Given the description of an element on the screen output the (x, y) to click on. 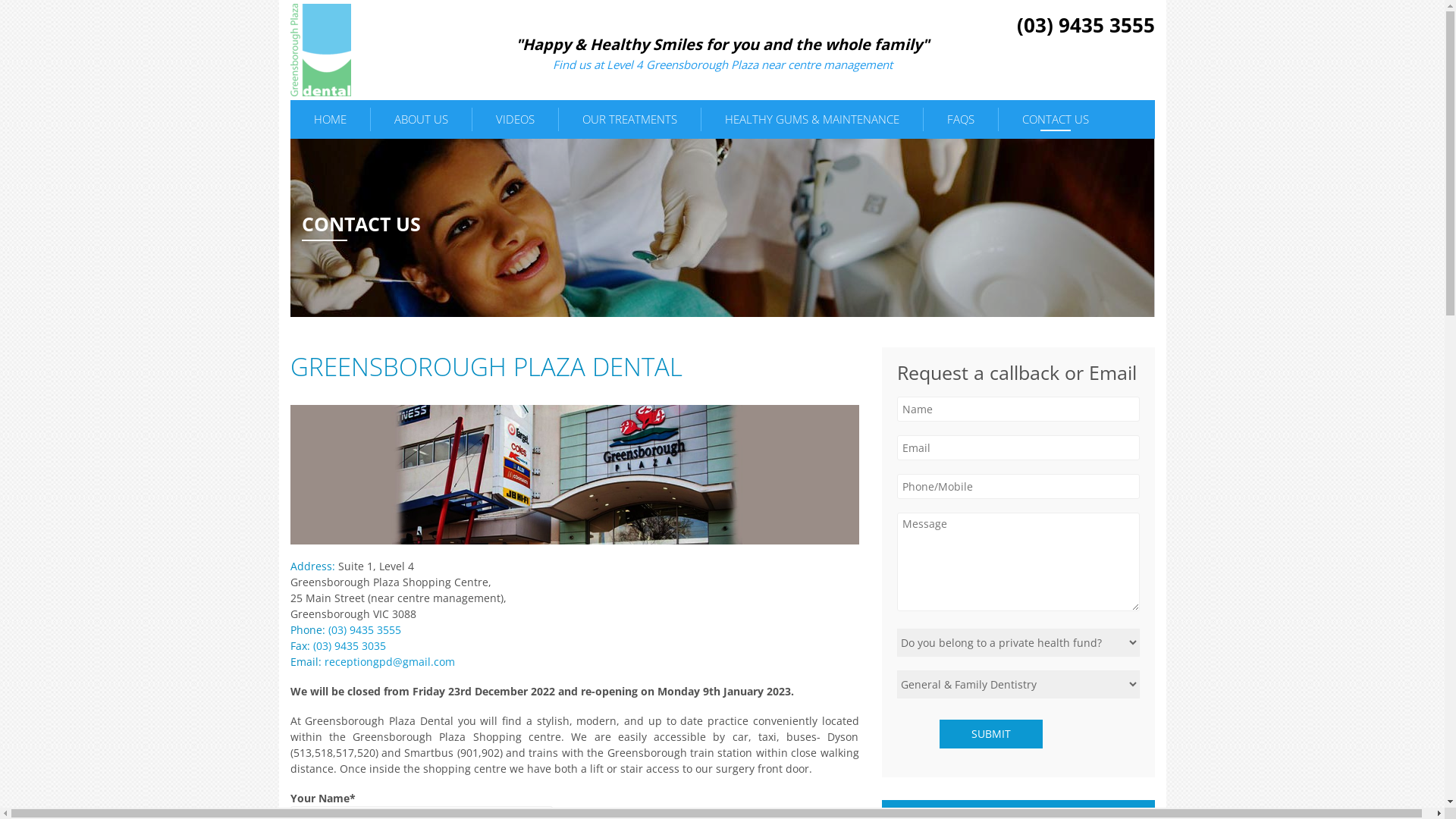
VIDEOS Element type: text (514, 119)
ABOUT US Element type: text (420, 119)
CONTACT US Element type: text (1054, 119)
receptiongpd@gmail.com Element type: text (389, 661)
(03) 9435 3555 Element type: text (363, 629)
HEALTHY GUMS & MAINTENANCE Element type: text (811, 119)
HOME Element type: text (329, 119)
(03) 9435 3555 Element type: text (1085, 24)
(03) 9435 3035 Element type: text (348, 645)
OUR TREATMENTS Element type: text (628, 119)
FAQS Element type: text (960, 119)
Submit Element type: text (989, 733)
